Given the description of an element on the screen output the (x, y) to click on. 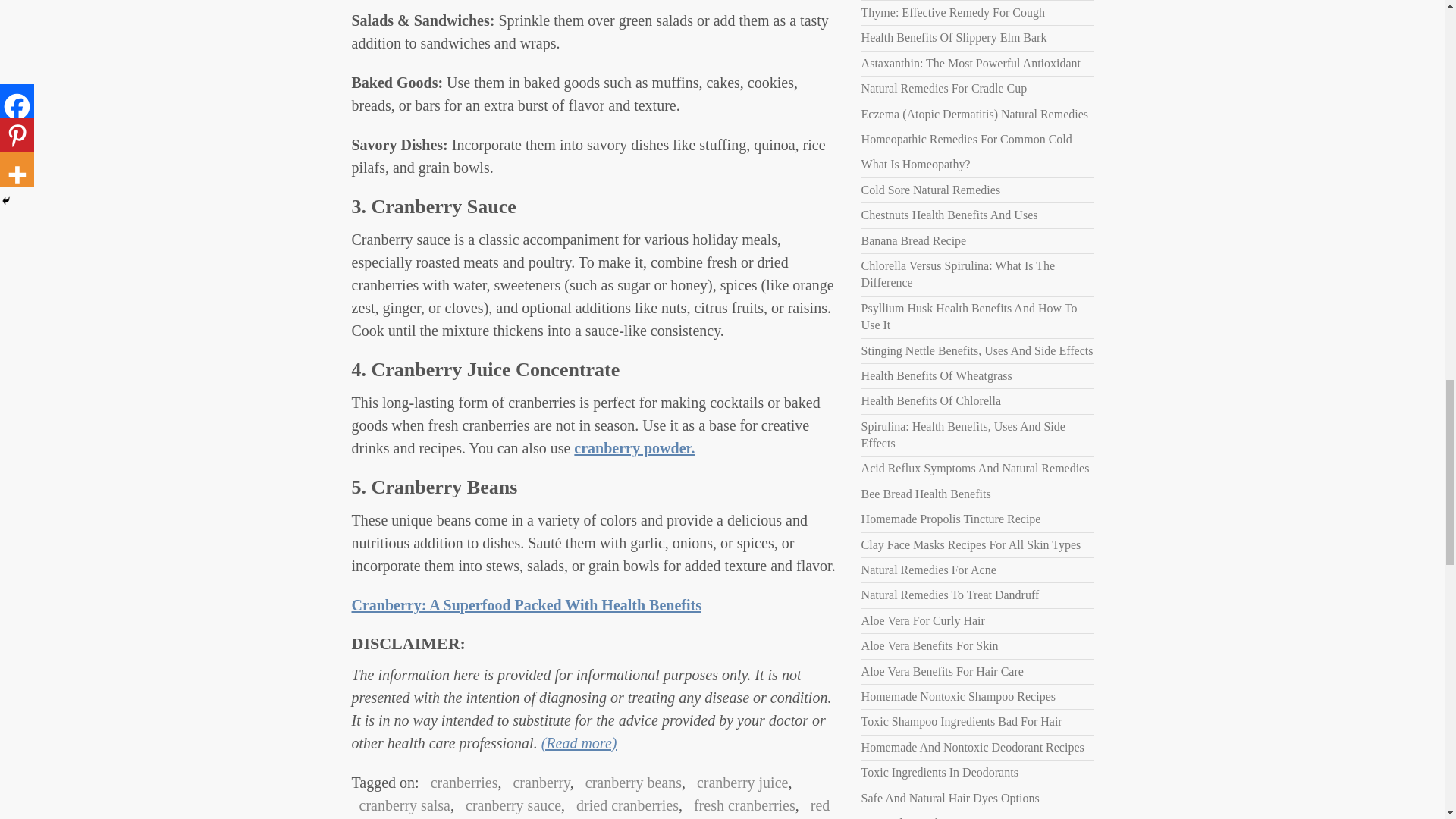
dried cranberries (623, 805)
cranberry salsa (401, 805)
cranberry juice (737, 782)
cranberries (460, 782)
cranberry powder. (633, 447)
red friut (590, 807)
cranberry (537, 782)
cranberry beans (629, 782)
fresh cranberries (739, 805)
Cranberry: A Superfood Packed With Health Benefits (526, 605)
